Given the description of an element on the screen output the (x, y) to click on. 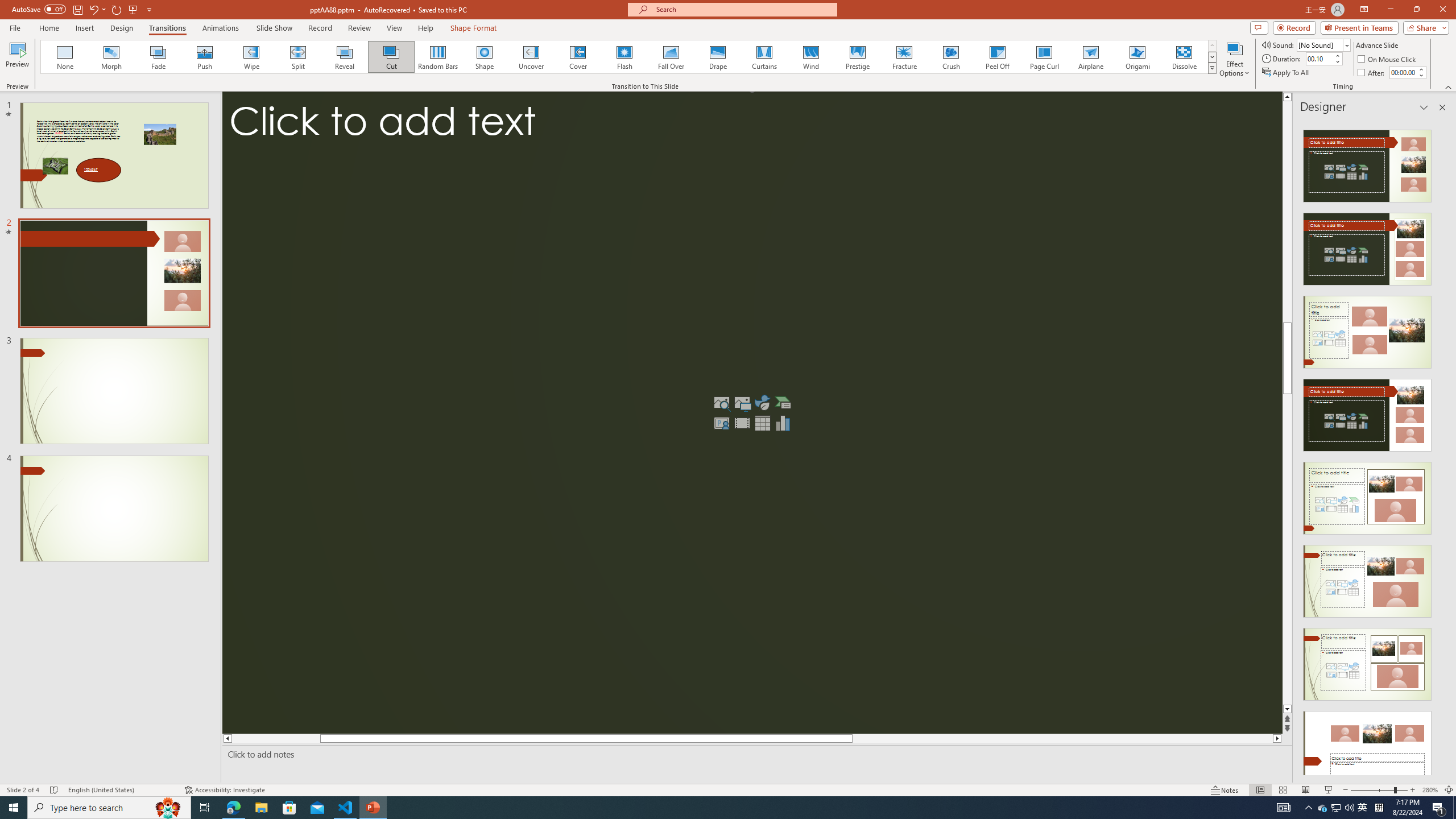
Origami (1136, 56)
Insert Video (742, 423)
